Given the description of an element on the screen output the (x, y) to click on. 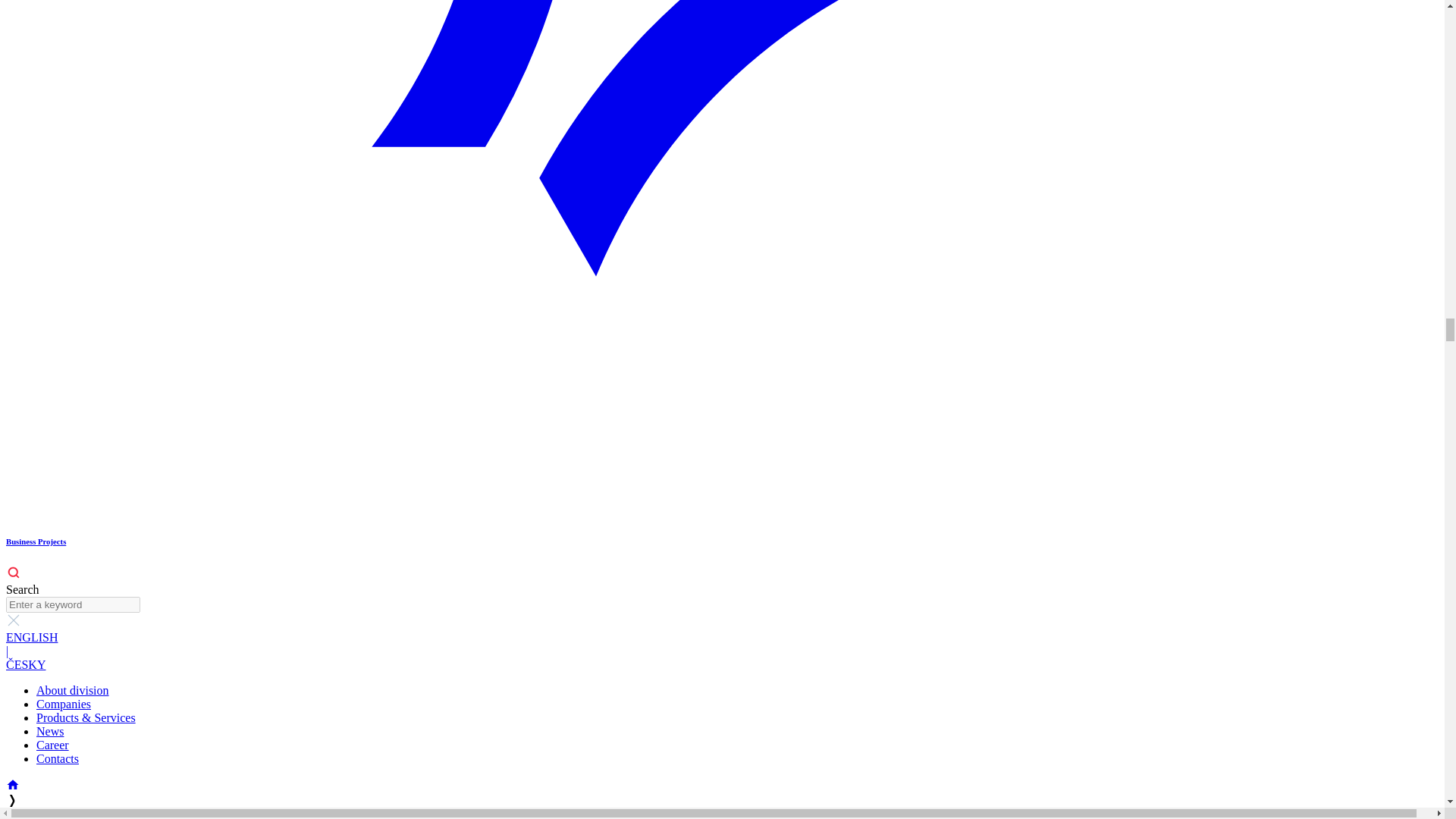
Contacts (57, 758)
Career (52, 744)
About division (72, 689)
Companies (63, 703)
News (50, 730)
